Given the description of an element on the screen output the (x, y) to click on. 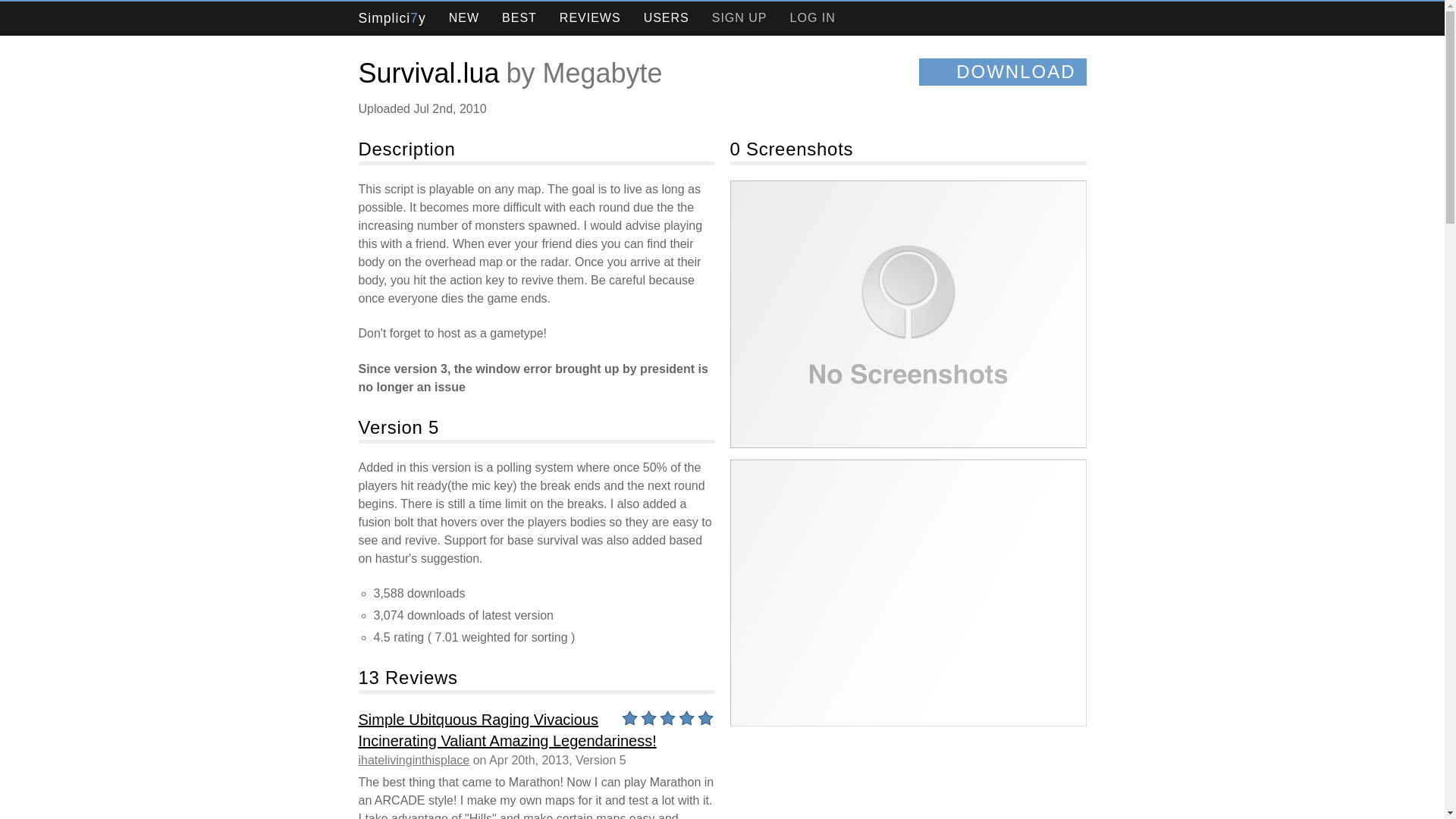
ihatelivinginthisplace (413, 759)
REVIEWS (589, 17)
LOG IN (813, 17)
Simplici7y (391, 17)
DOWNLOAD (1002, 71)
Megabyte (602, 72)
BEST (519, 17)
NEW (463, 17)
SIGN UP (739, 17)
USERS (666, 17)
